Given the description of an element on the screen output the (x, y) to click on. 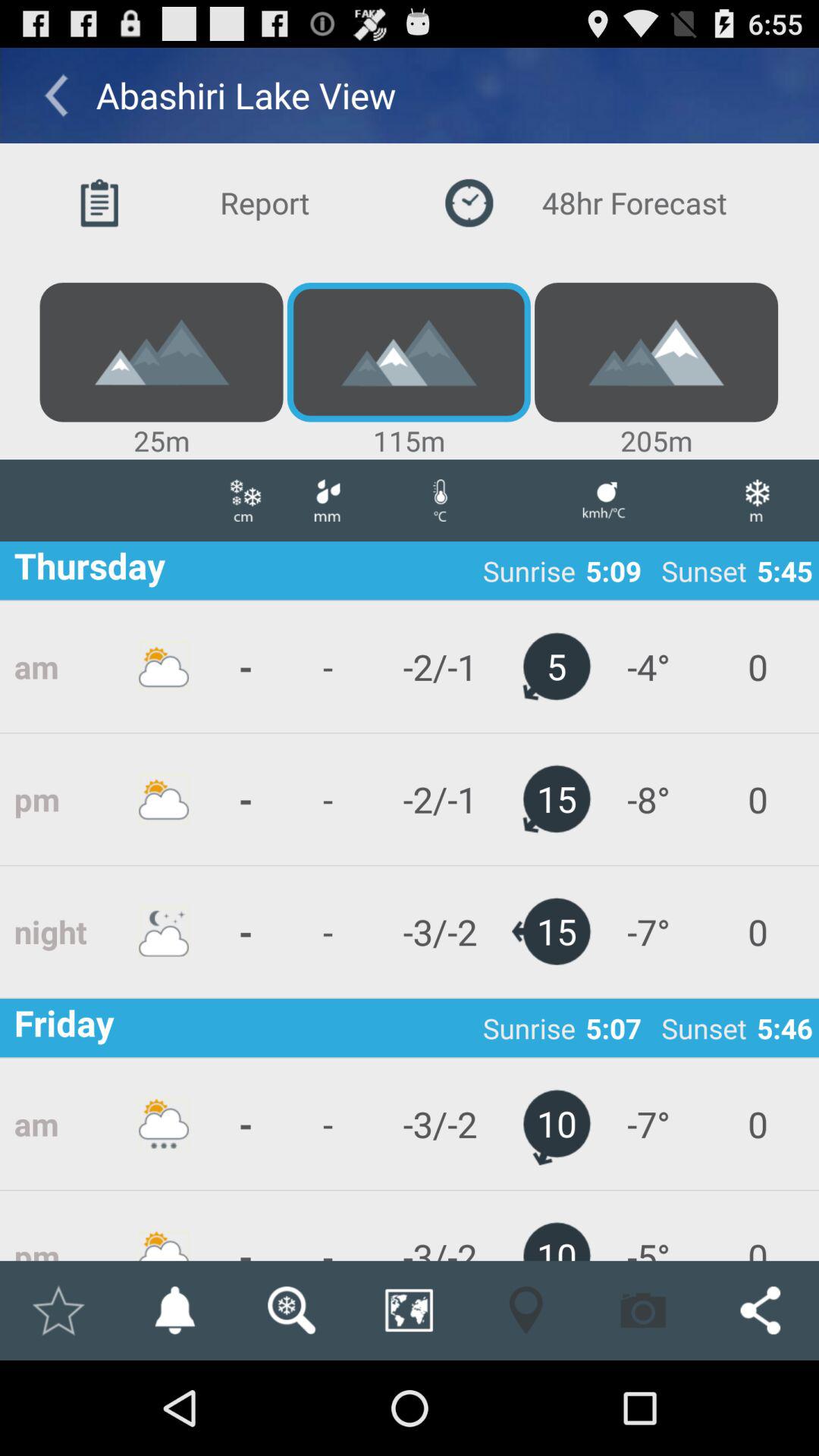
click to use alarm (174, 1310)
